Given the description of an element on the screen output the (x, y) to click on. 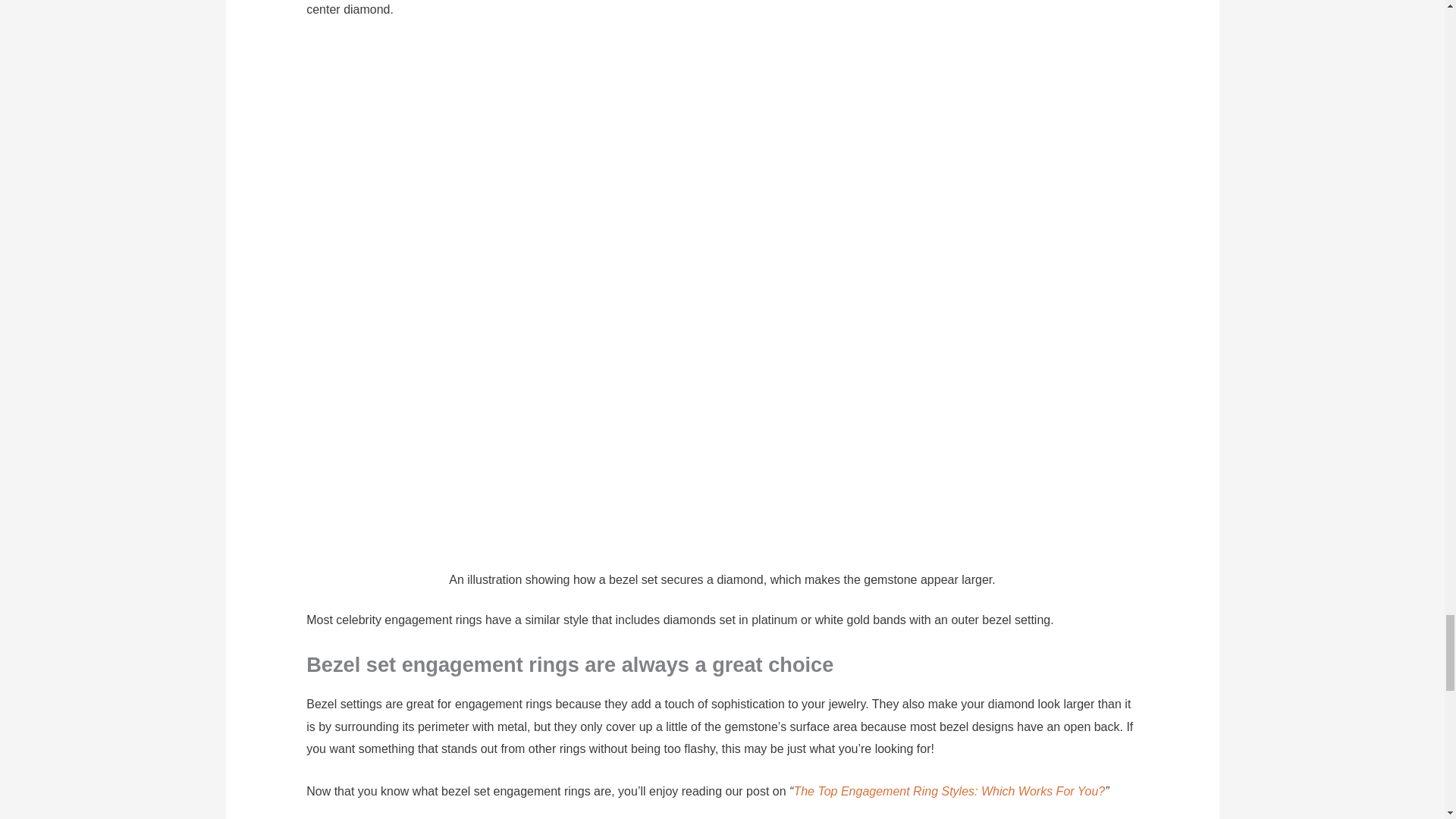
The Top Engagement Ring Styles: Which Works For You? (949, 790)
